Given the description of an element on the screen output the (x, y) to click on. 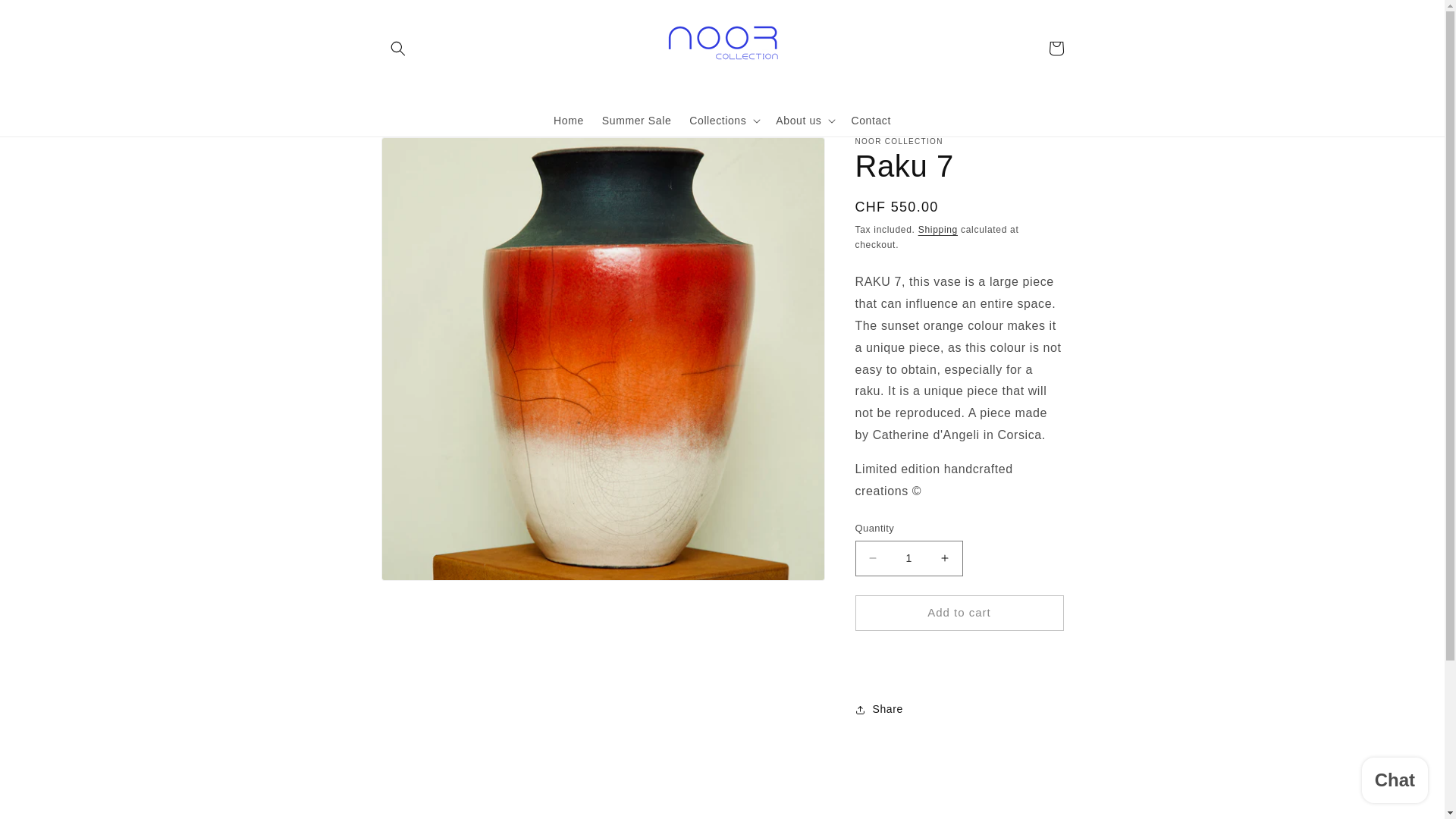
Shopify online store chat (1394, 781)
Home (568, 120)
Skip to content (45, 17)
1 (908, 558)
Summer Sale (635, 120)
